Given the description of an element on the screen output the (x, y) to click on. 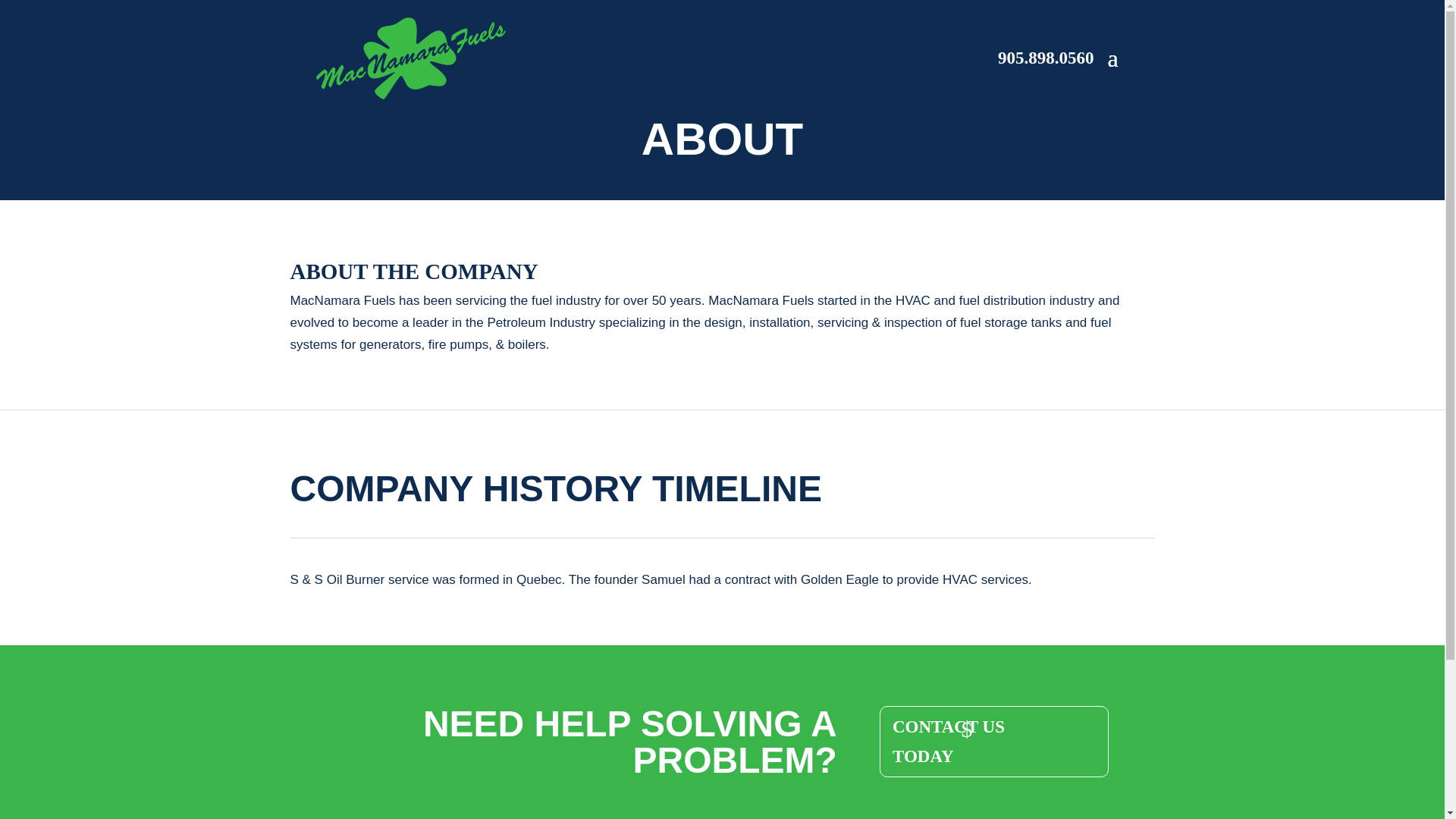
CONTACT US TODAY (994, 741)
905.898.0560 (1045, 57)
